Given the description of an element on the screen output the (x, y) to click on. 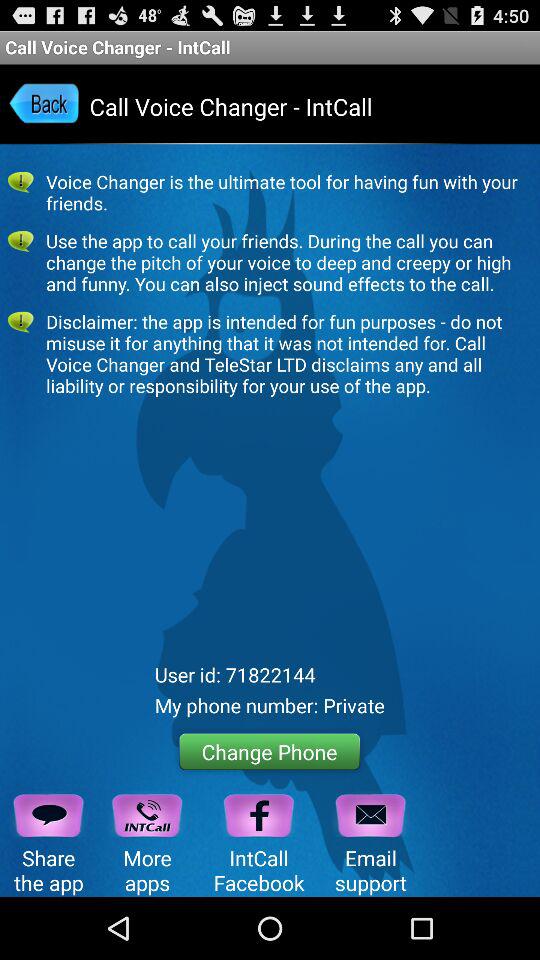
choose the change phone button (269, 751)
